Given the description of an element on the screen output the (x, y) to click on. 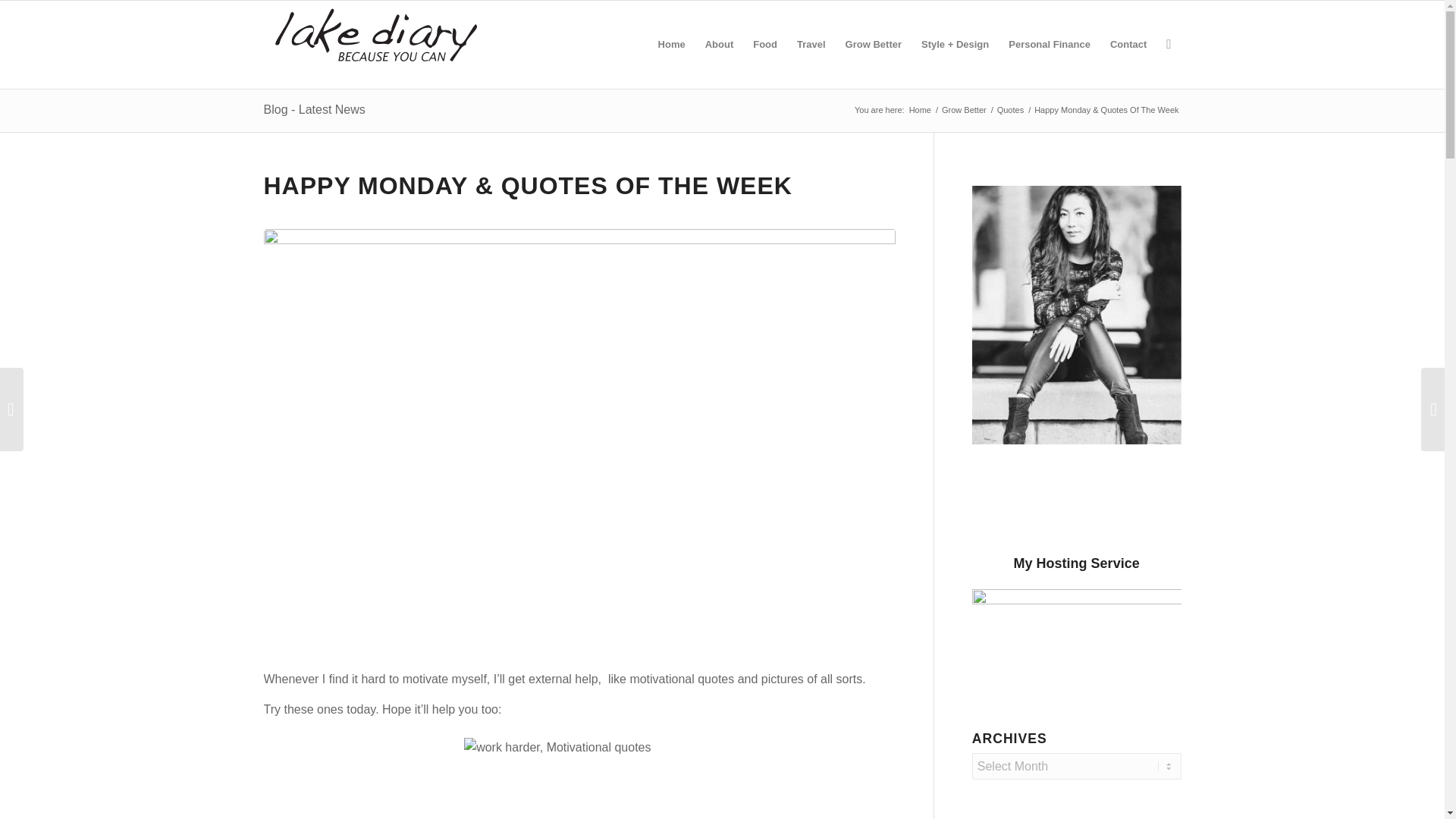
Quotes (1010, 110)
Home (671, 44)
Contact (1128, 44)
Travel (811, 44)
Blog - Latest News (314, 109)
Grow Better (873, 44)
lakediary-logo-3 (376, 44)
Grow Better (963, 110)
Home (920, 110)
lakediary-logo-3 (376, 36)
Personal Finance (1049, 44)
Motivational quotes (579, 774)
Permanent Link: Blog - Latest News (314, 109)
Lake Diary (920, 110)
